Given the description of an element on the screen output the (x, y) to click on. 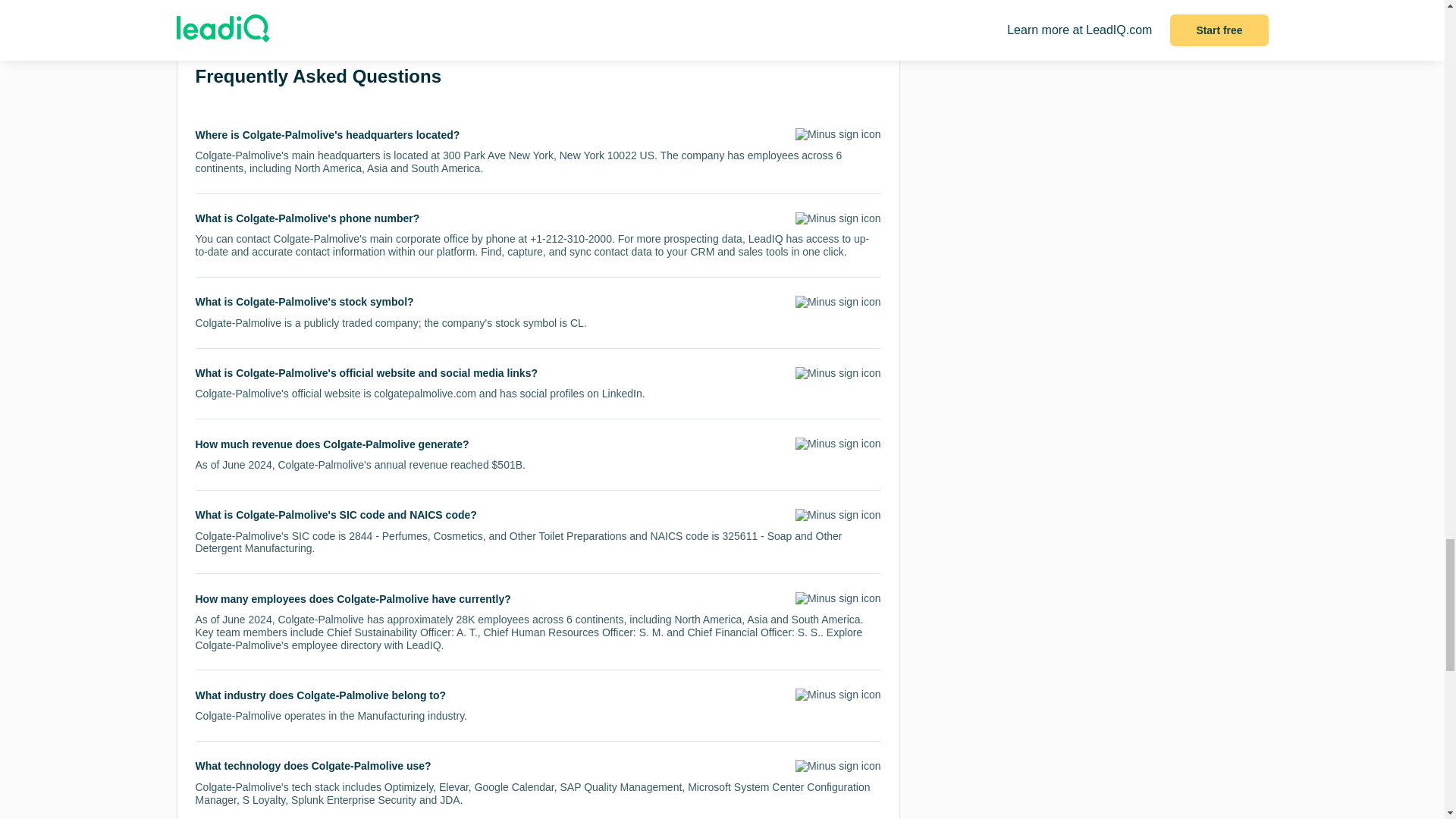
colgatepalmolive.com (425, 393)
LinkedIn (622, 393)
Colgate-Palmolive's employee directory (288, 645)
